Given the description of an element on the screen output the (x, y) to click on. 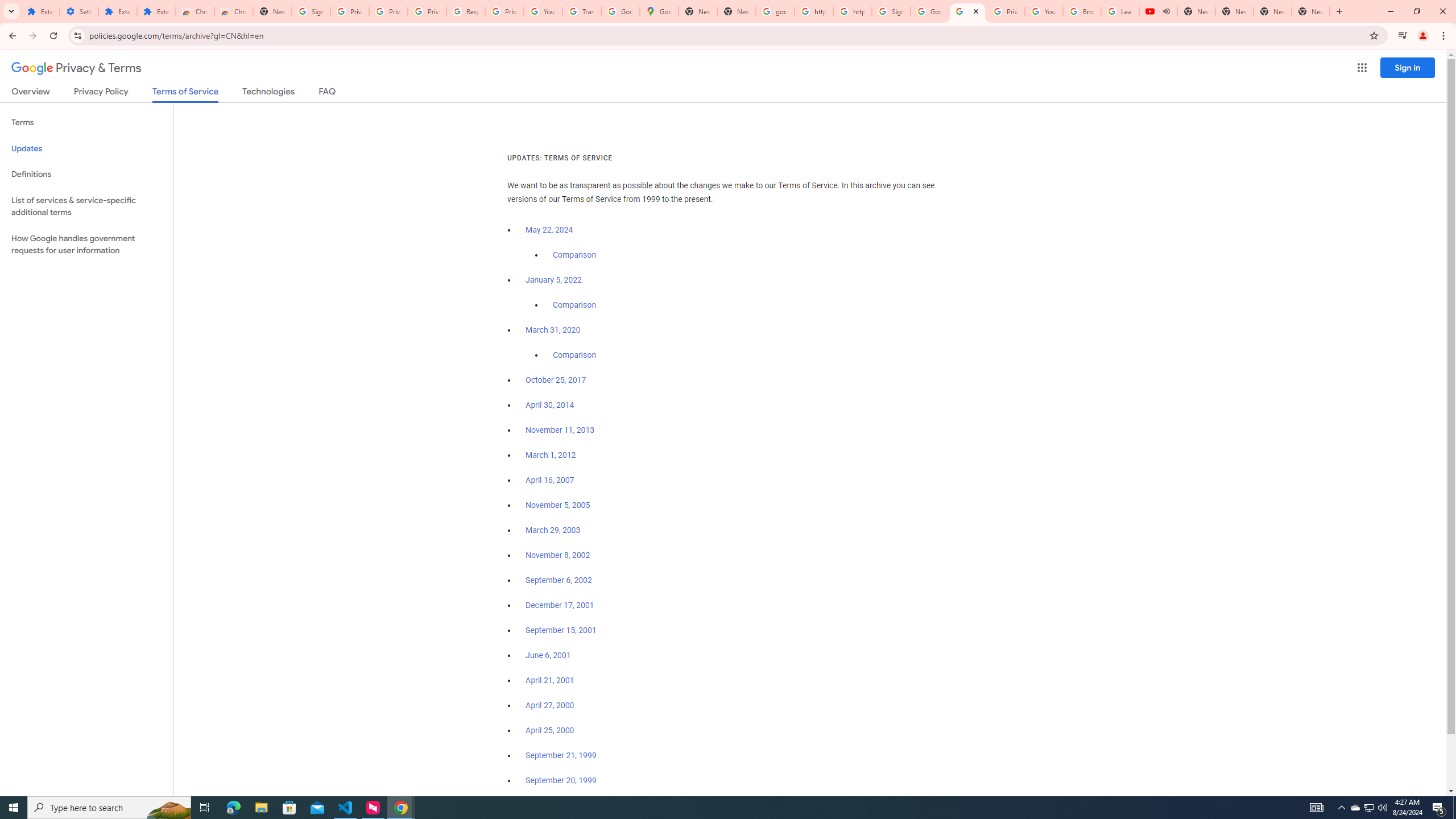
YouTube (1043, 11)
November 8, 2002 (557, 555)
Settings (79, 11)
March 29, 2003 (552, 530)
https://scholar.google.com/ (852, 11)
April 25, 2000 (550, 729)
September 21, 1999 (560, 755)
